Given the description of an element on the screen output the (x, y) to click on. 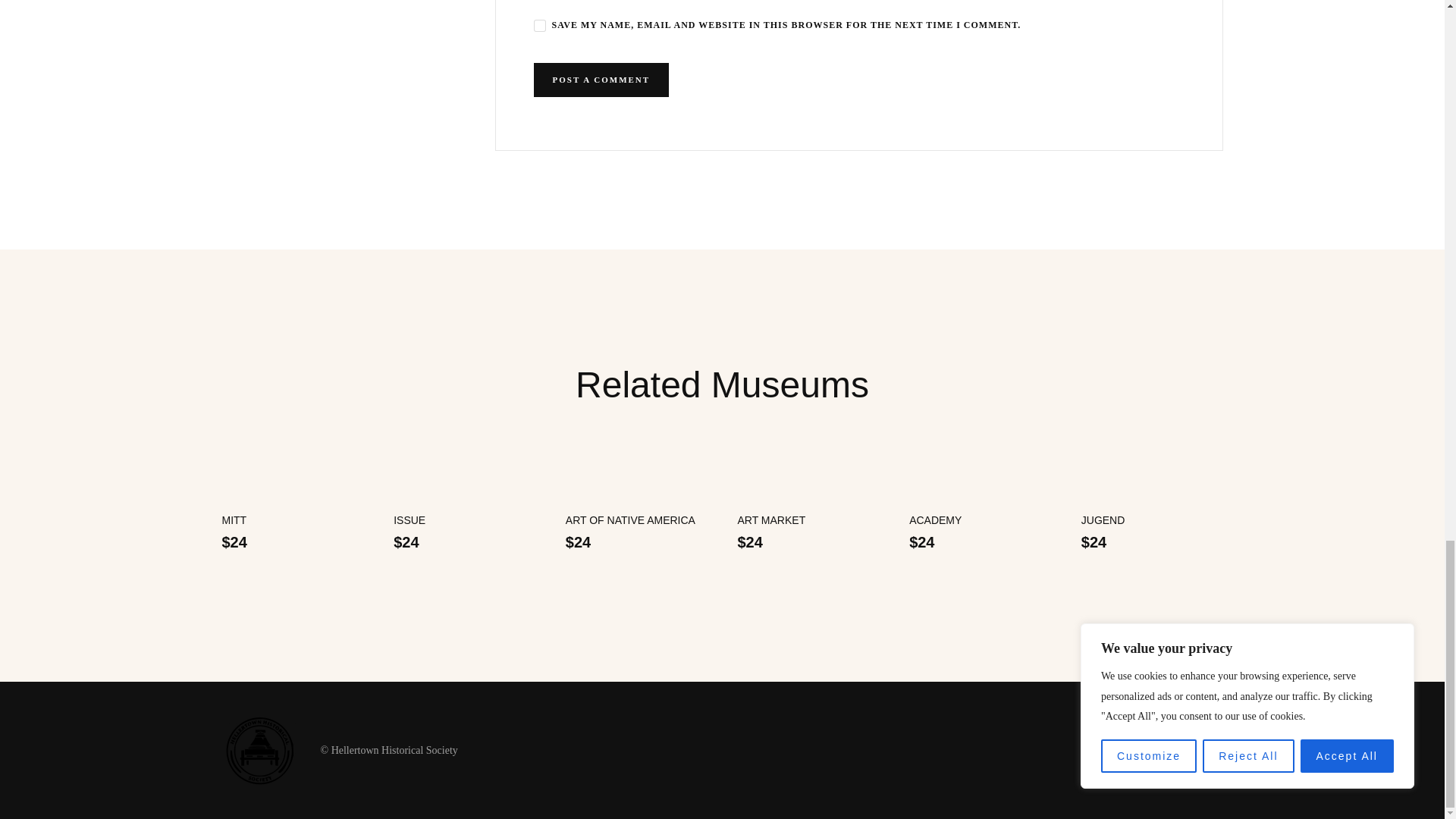
Post a Comment (601, 80)
yes (540, 25)
